Given the description of an element on the screen output the (x, y) to click on. 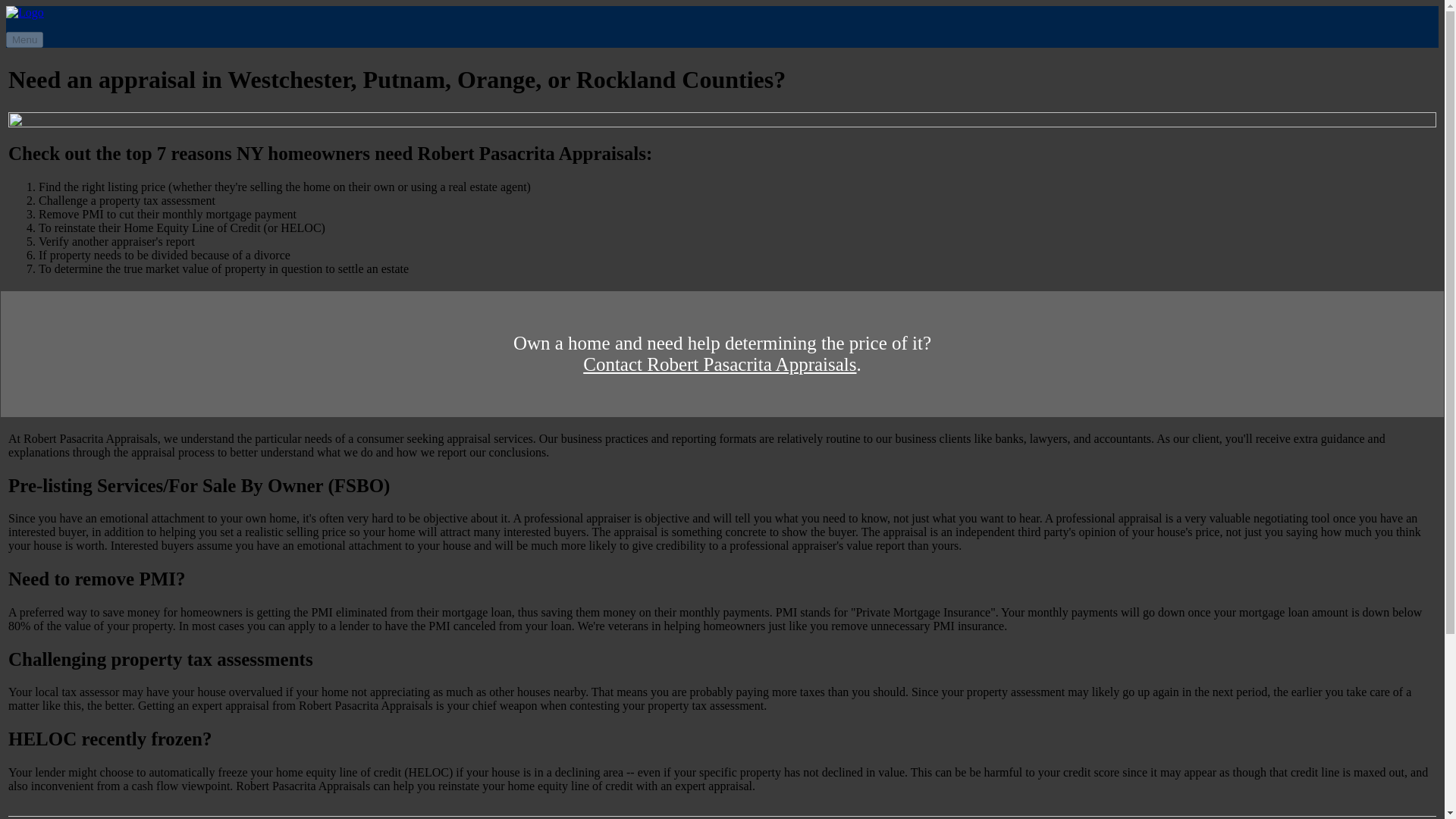
Menu (24, 39)
Contact Robert Pasacrita Appraisals (719, 363)
